Given the description of an element on the screen output the (x, y) to click on. 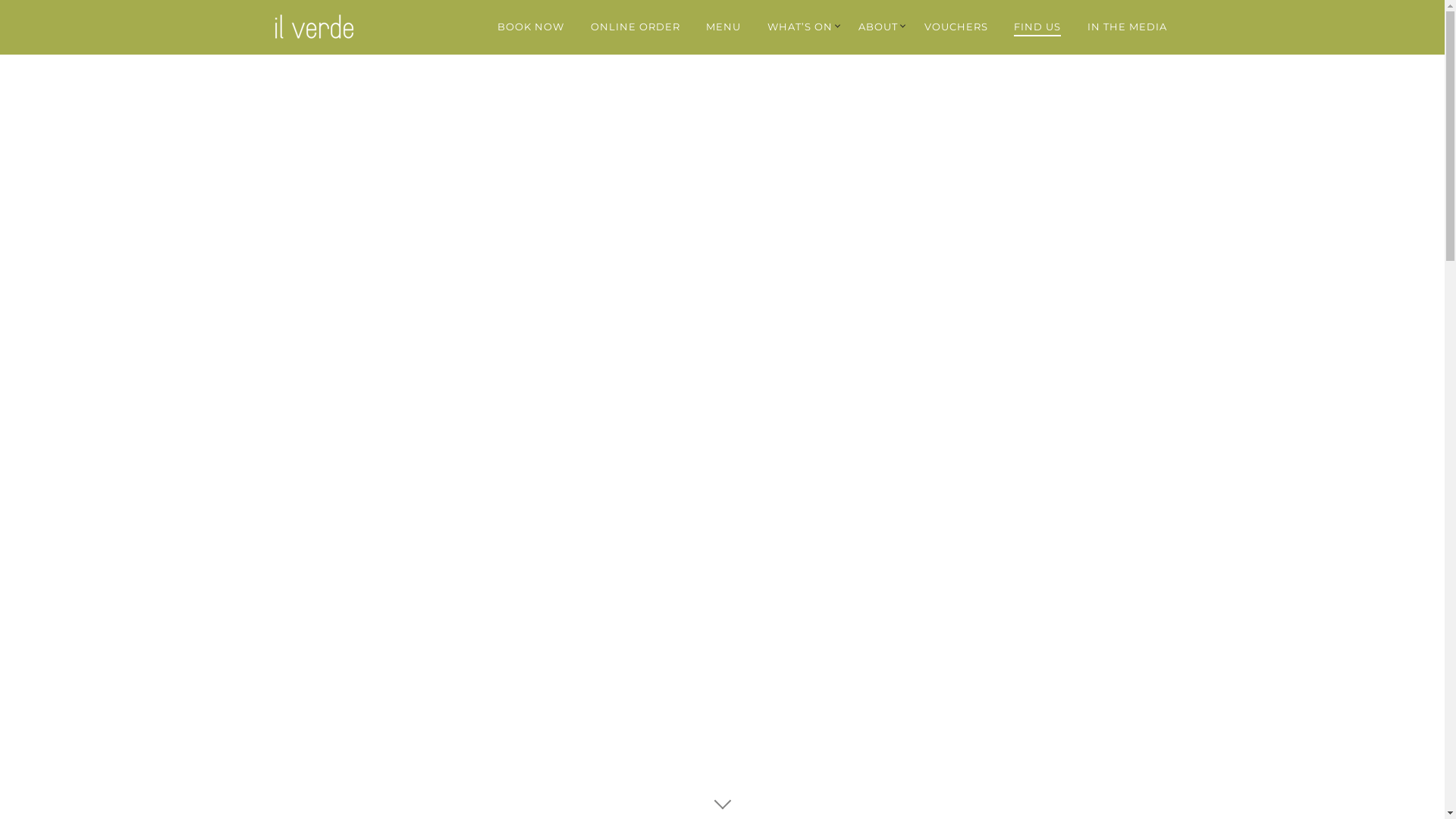
FIND US Element type: text (1037, 27)
IN THE MEDIA Element type: text (1126, 26)
ONLINE ORDER Element type: text (635, 26)
VOUCHERS Element type: text (956, 26)
MENU Element type: text (723, 26)
BOOK NOW Element type: text (530, 26)
ABOUT Element type: text (878, 26)
Il Verde Element type: hover (320, 27)
